Given the description of an element on the screen output the (x, y) to click on. 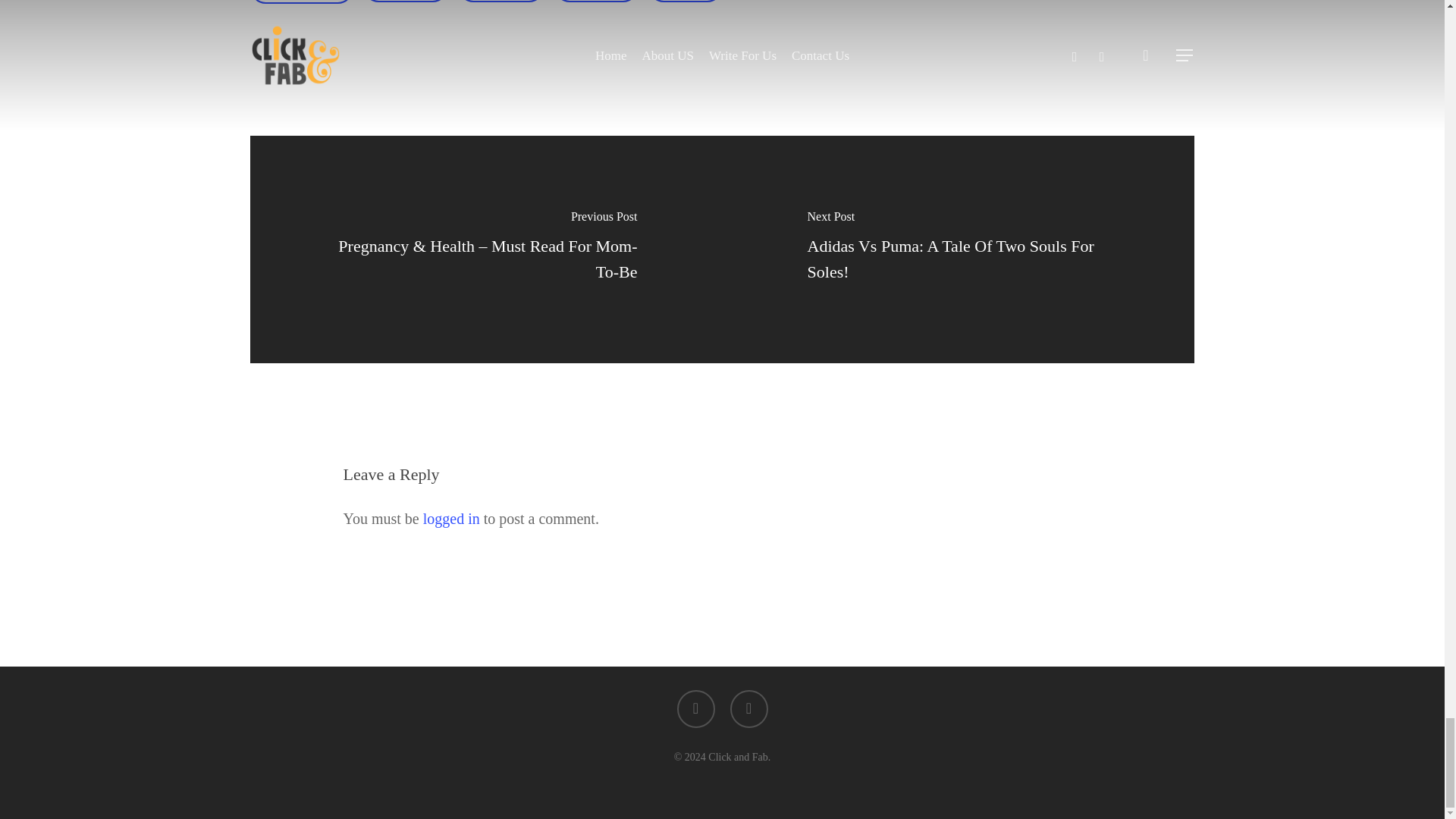
Share this (301, 2)
Tweet this (596, 1)
Share (501, 1)
Pin this (596, 1)
Pin (684, 1)
Share this (684, 1)
Share (405, 1)
Tweet (405, 1)
Love this (501, 1)
